Given the description of an element on the screen output the (x, y) to click on. 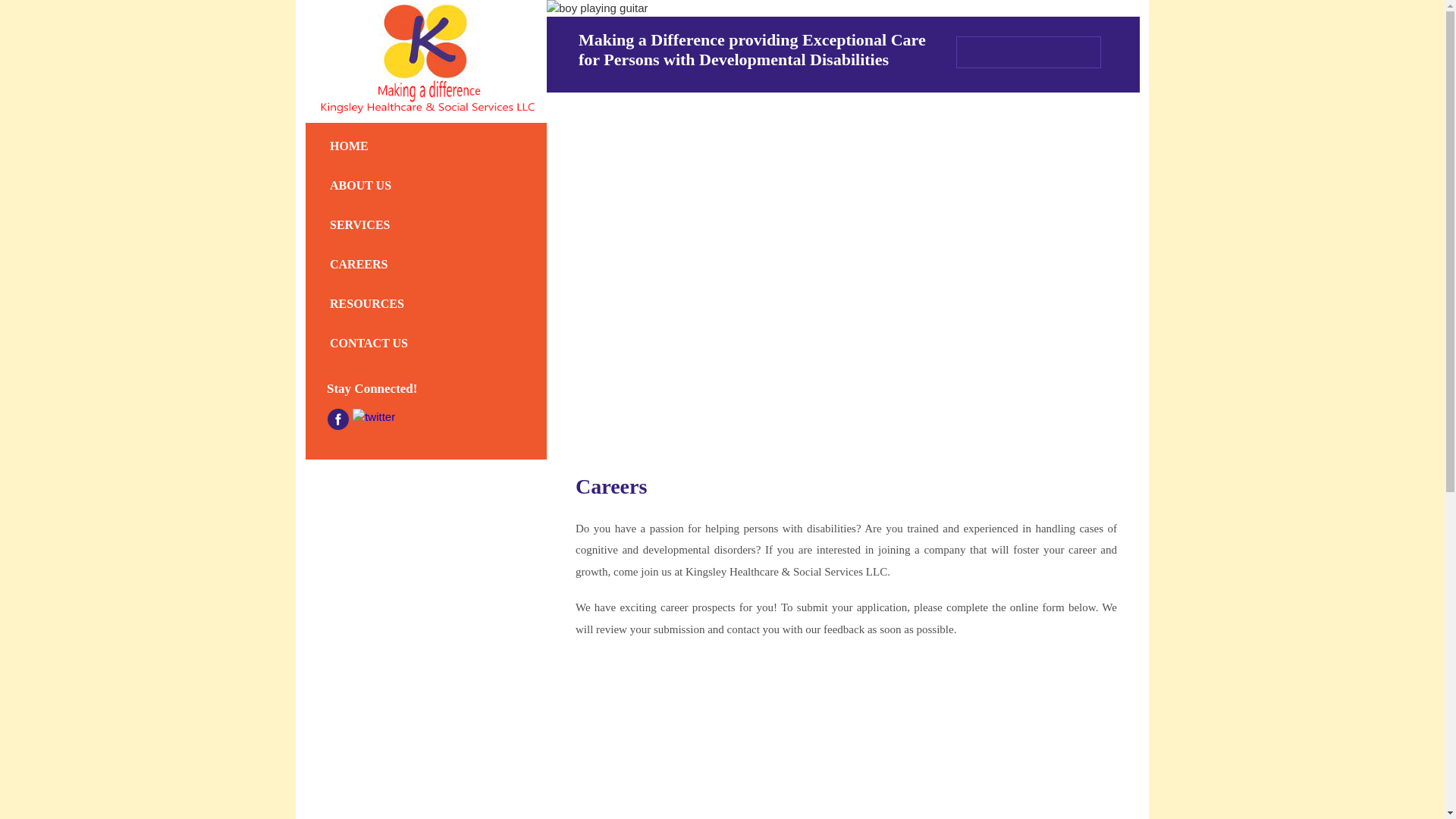
ABOUT US (426, 185)
HOME (426, 714)
CAREERS (426, 145)
RESOURCES (426, 263)
Attendant Care (426, 303)
Set an Appointment (426, 658)
SERVICES (1028, 51)
CONTACT US (426, 770)
